Given the description of an element on the screen output the (x, y) to click on. 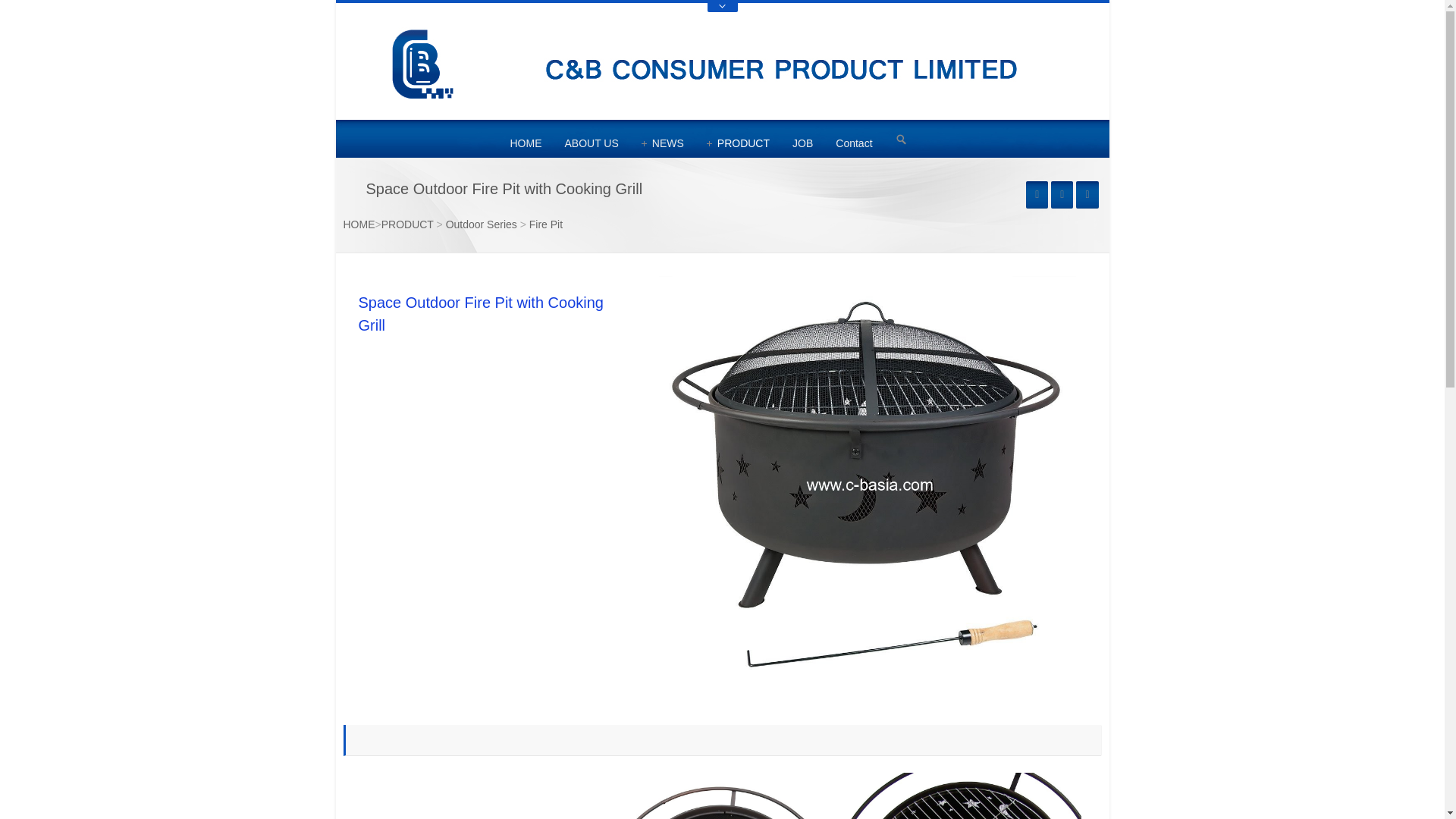
ABOUT US (590, 143)
NEWS (663, 143)
NEWS (663, 143)
PRODUCT (738, 143)
ABOUT US (590, 143)
PRODUCT (738, 143)
